Given the description of an element on the screen output the (x, y) to click on. 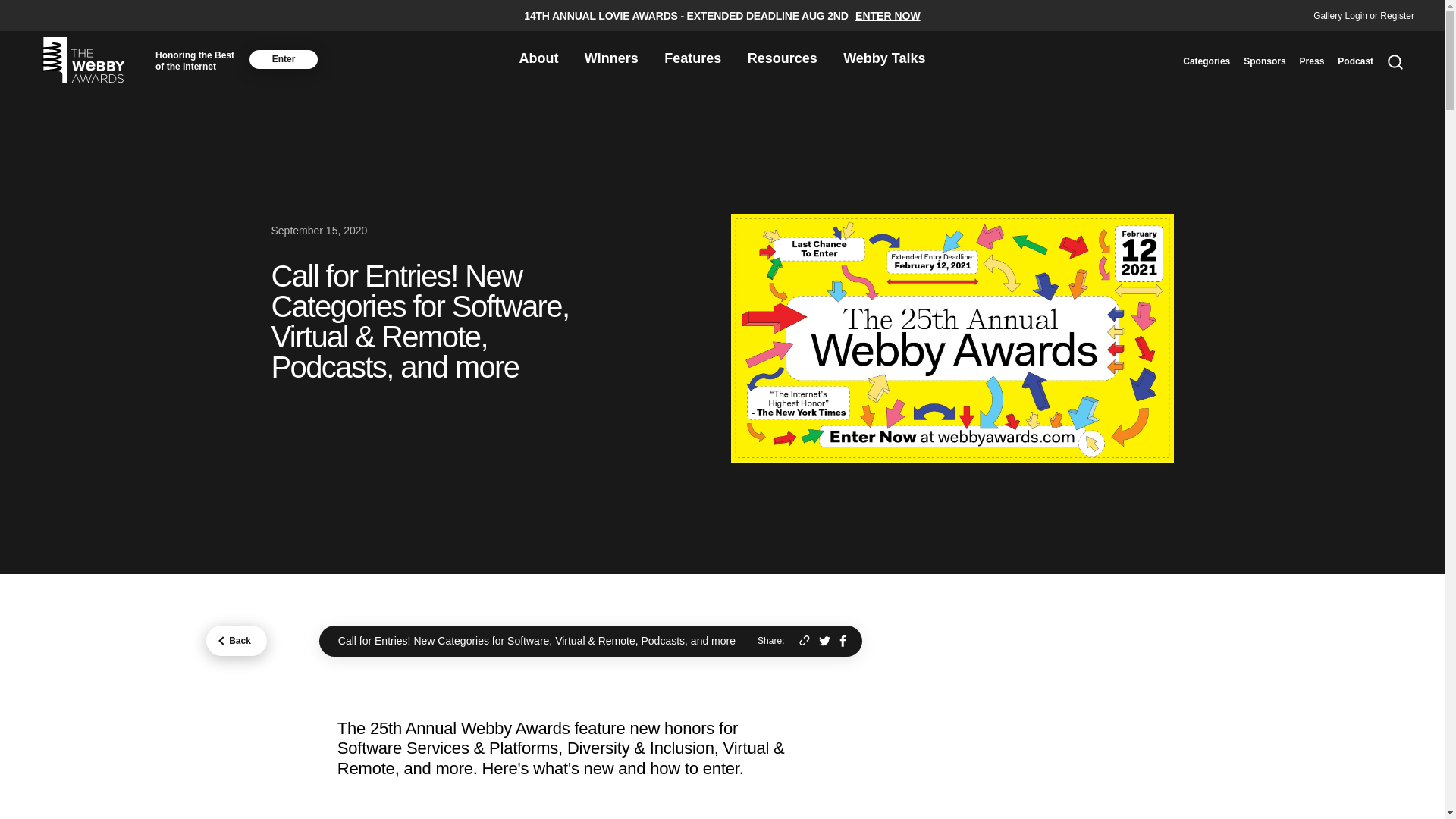
ENTER NOW (888, 16)
Winners (612, 58)
Sponsors (1264, 61)
Podcast (1355, 61)
About (537, 58)
Press (1312, 61)
Back (236, 640)
Gallery Login or Register (1363, 15)
Share on Twitter (823, 641)
Enter (282, 58)
Resources (782, 58)
Features (691, 58)
Webby Talks (883, 58)
Categories (1206, 61)
